Given the description of an element on the screen output the (x, y) to click on. 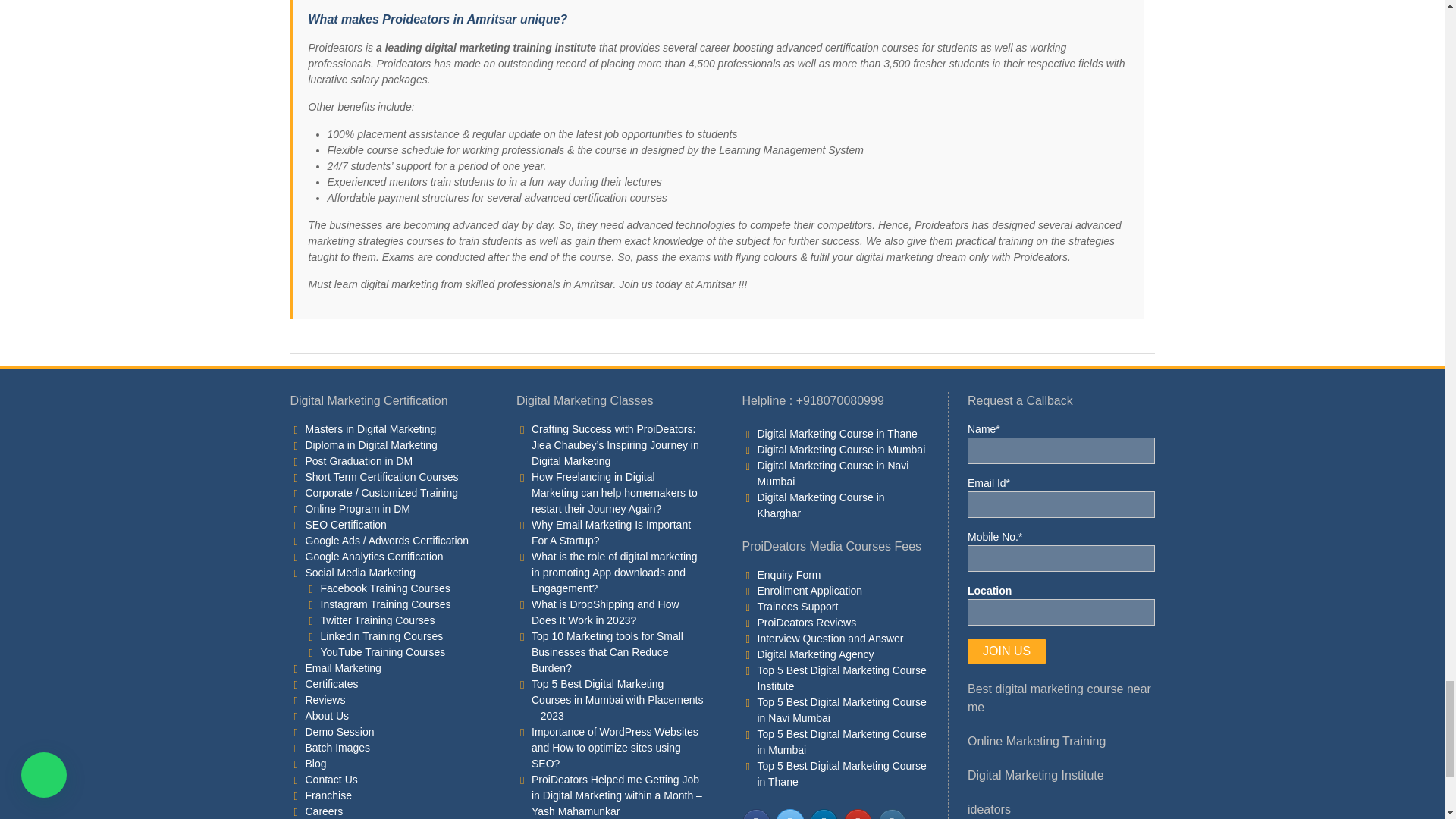
JOIN US (1006, 651)
ProiDeators on X Twitter (789, 814)
ProiDeators on Facebook (755, 814)
